Given the description of an element on the screen output the (x, y) to click on. 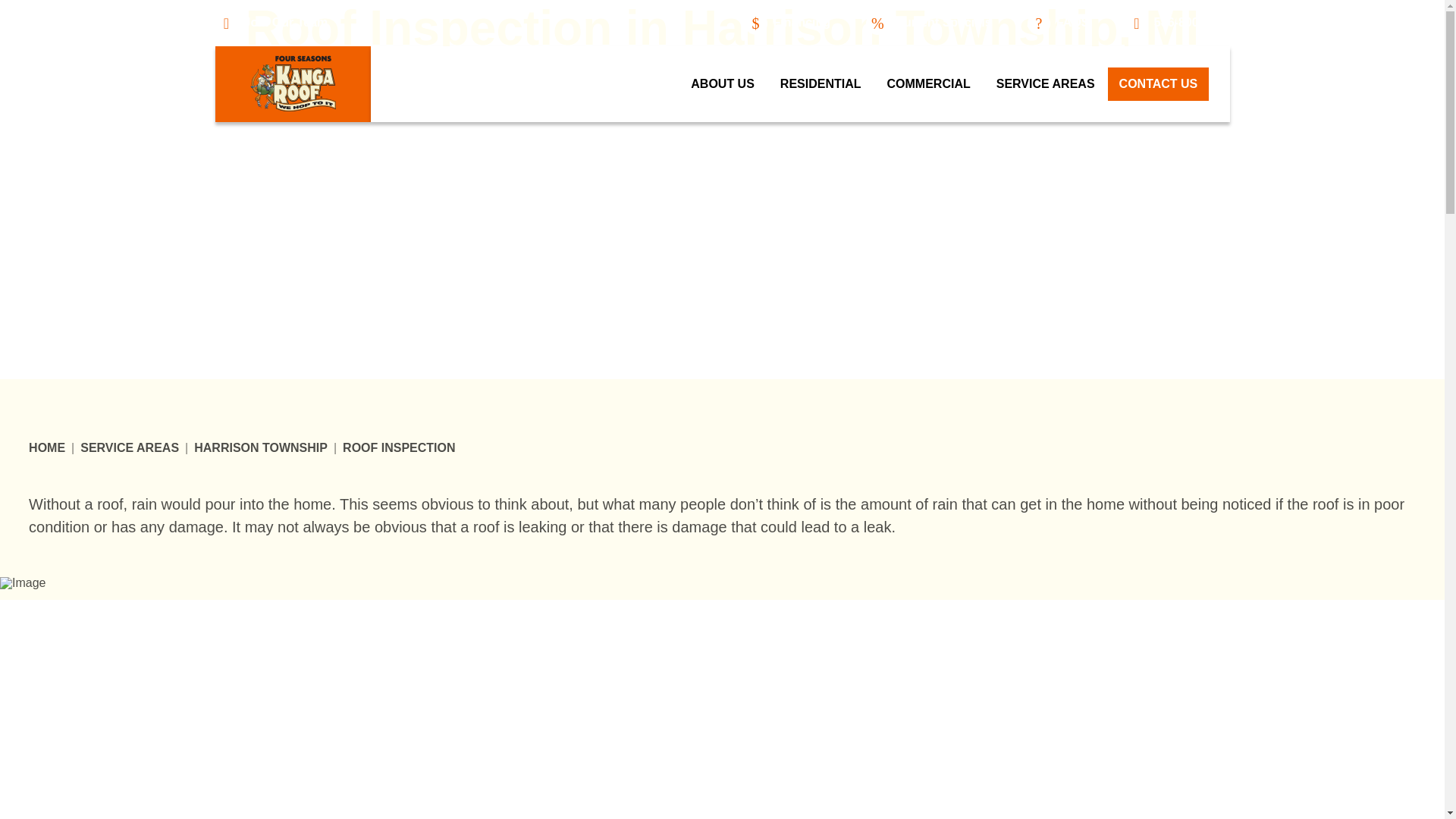
HARRISON TOWNSHIP (260, 448)
SERVICE AREAS (129, 448)
RESIDENTIAL (821, 83)
FAQS (1058, 23)
ROOF INSPECTION (398, 448)
HOME (47, 448)
Join Our Team (272, 23)
586-800-8126 (1177, 23)
Current Specials (928, 23)
COMMERCIAL (929, 83)
Financing (787, 23)
You Are Here (398, 448)
SERVICE AREAS (1046, 83)
CALL OUR TEAM (721, 89)
ABOUT US (722, 83)
